Given the description of an element on the screen output the (x, y) to click on. 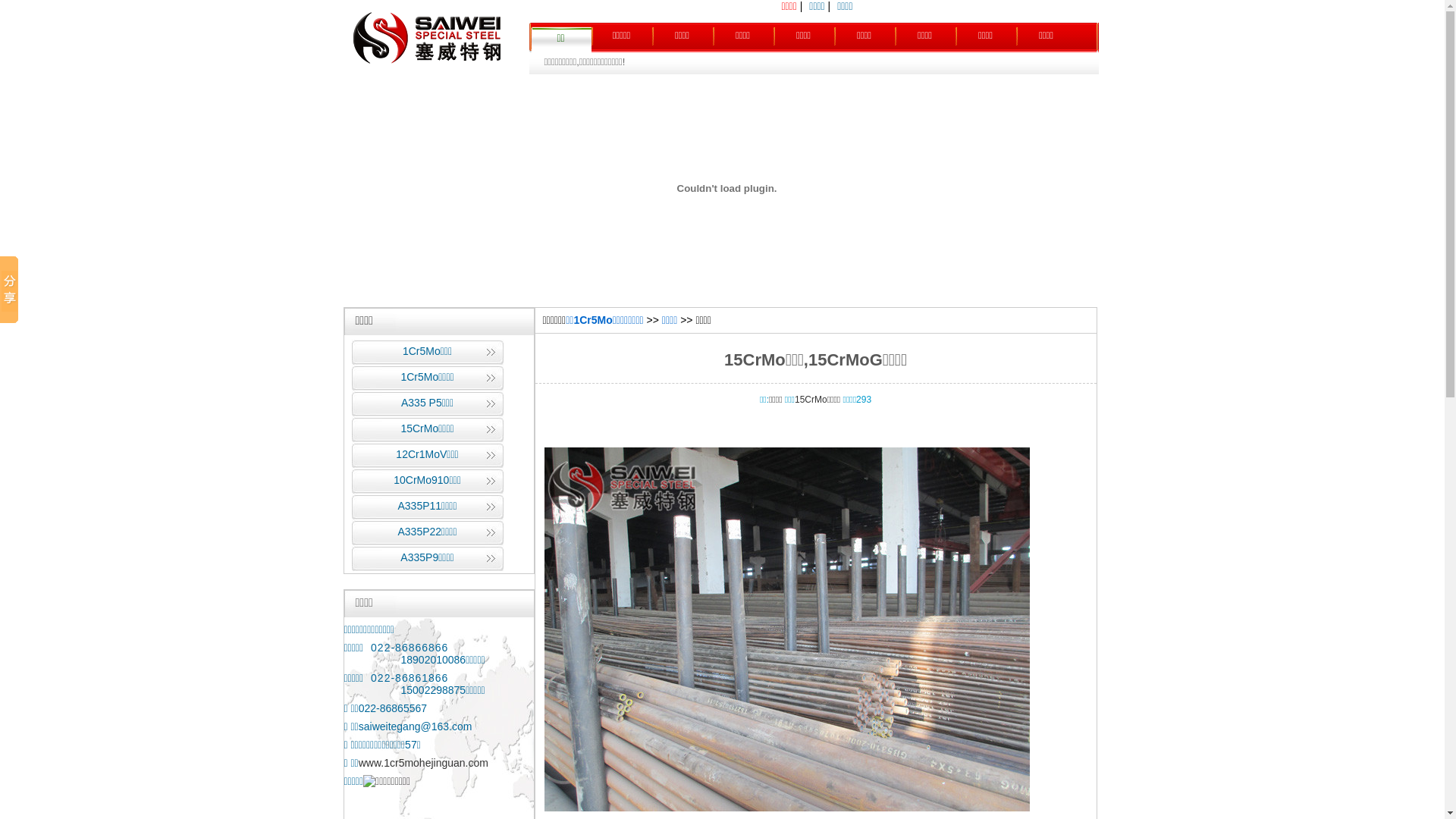
flash Element type: hover (726, 187)
www.1cr5mohejinguan.com Element type: text (423, 762)
logo Element type: hover (426, 71)
